Given the description of an element on the screen output the (x, y) to click on. 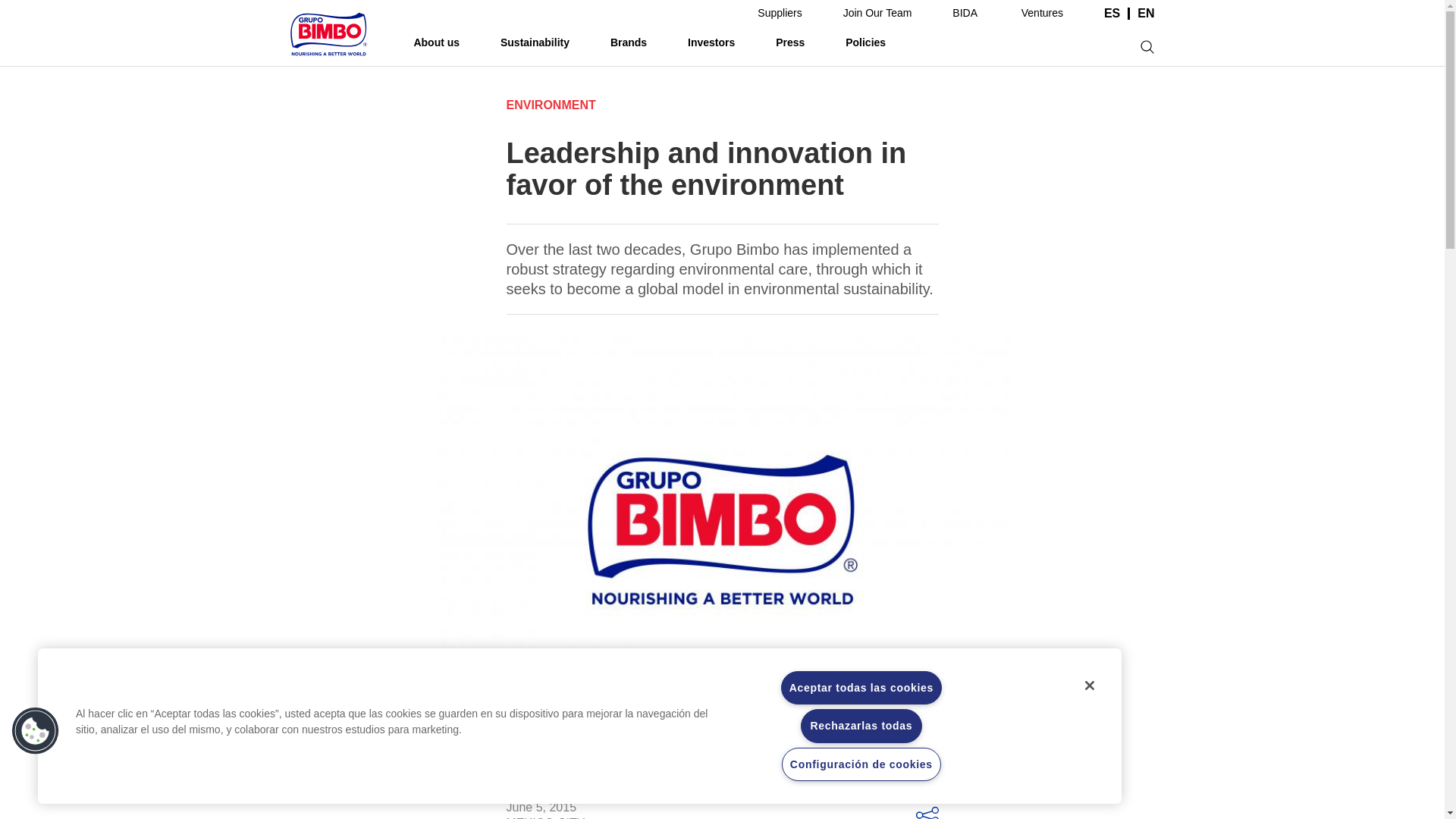
Cookies Button (36, 730)
